Given the description of an element on the screen output the (x, y) to click on. 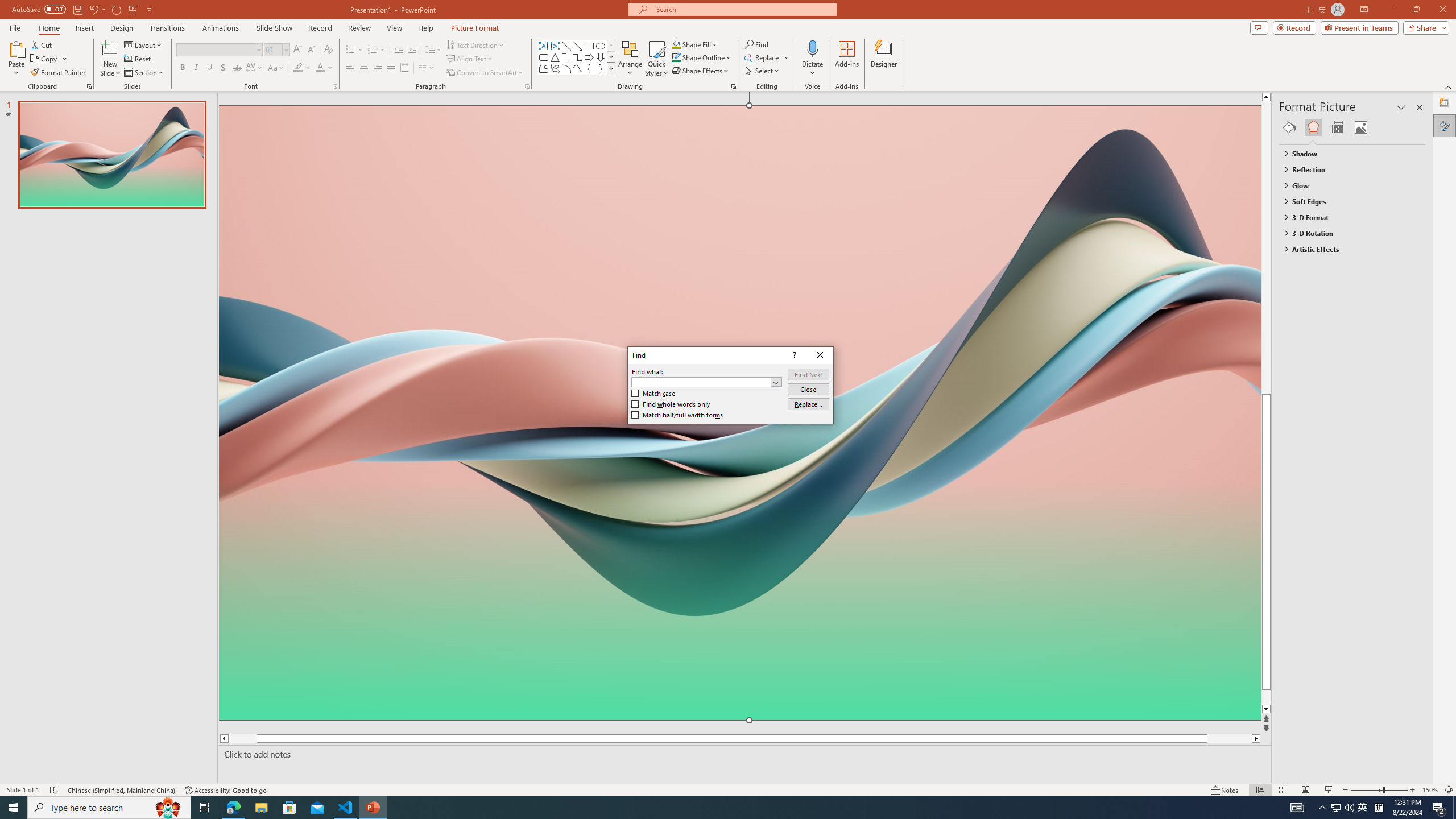
Vertical Text Box (554, 45)
Shadow (223, 67)
Text Highlight Color (302, 67)
Effects (1313, 126)
Class: NetUIScrollBar (1420, 460)
Fill & Line (1288, 126)
Align Right (377, 67)
Format Object... (733, 85)
